Given the description of an element on the screen output the (x, y) to click on. 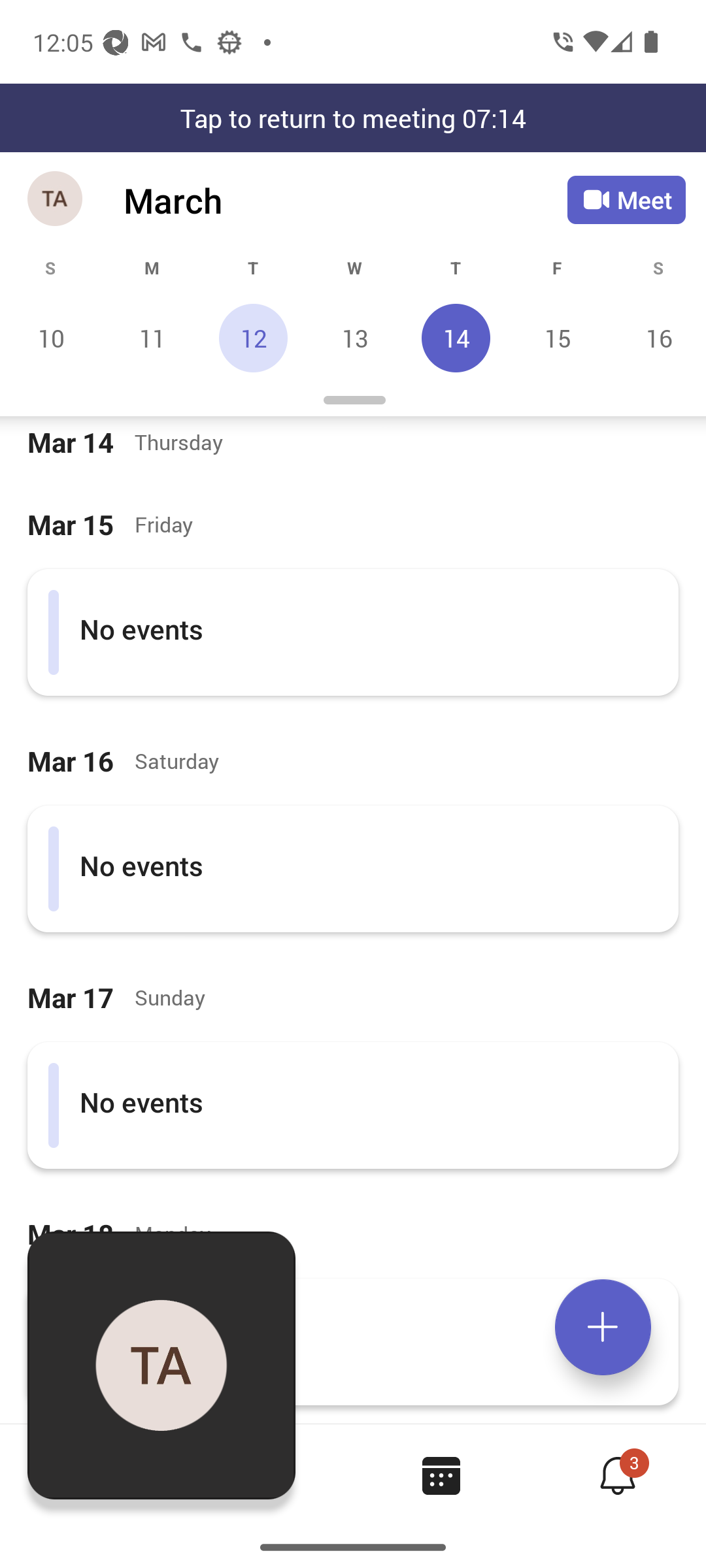
Tap to return to meeting 07:14 (353, 117)
Navigation (56, 199)
Meet Meet now or join with an ID (626, 199)
March March Calendar Agenda View (345, 199)
Sunday, March 10 10 (50, 337)
Monday, March 11 11 (151, 337)
Tuesday, March 12, Today 12 (253, 337)
Wednesday, March 13 13 (354, 337)
Thursday, March 14, Selected 14 (455, 337)
Friday, March 15 15 (556, 337)
Saturday, March 16 16 (656, 337)
Expand meetings menu (602, 1327)
Calendar tab, 3 of 4 (441, 1475)
Activity tab,4 of 4, not selected, 3 new 3 (617, 1475)
